Given the description of an element on the screen output the (x, y) to click on. 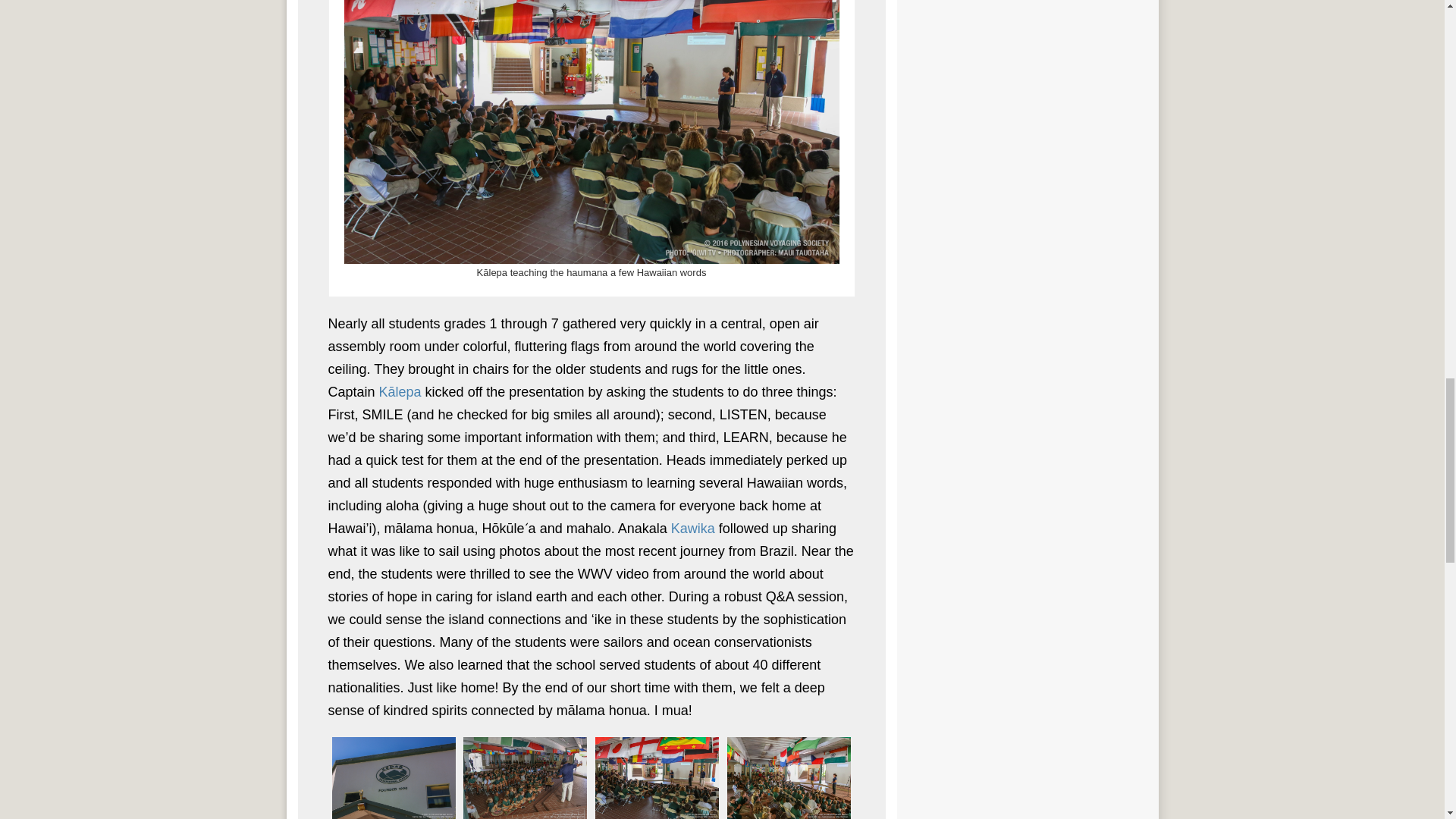
School visit on Tortola (394, 778)
